Given the description of an element on the screen output the (x, y) to click on. 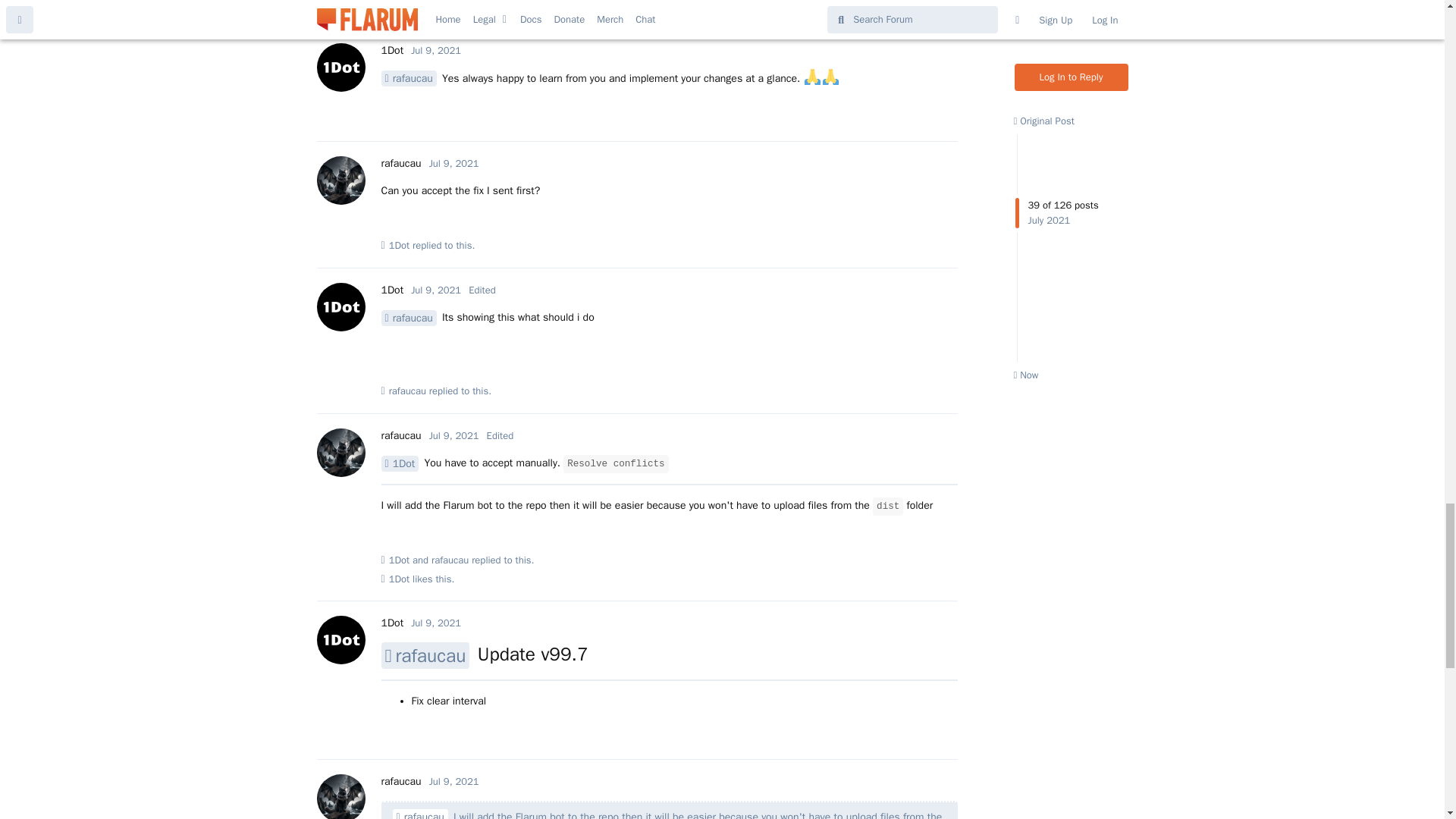
Friday, July 9, 2021 4:33 PM (435, 50)
Friday, July 9, 2021 4:34 PM (454, 163)
